Given the description of an element on the screen output the (x, y) to click on. 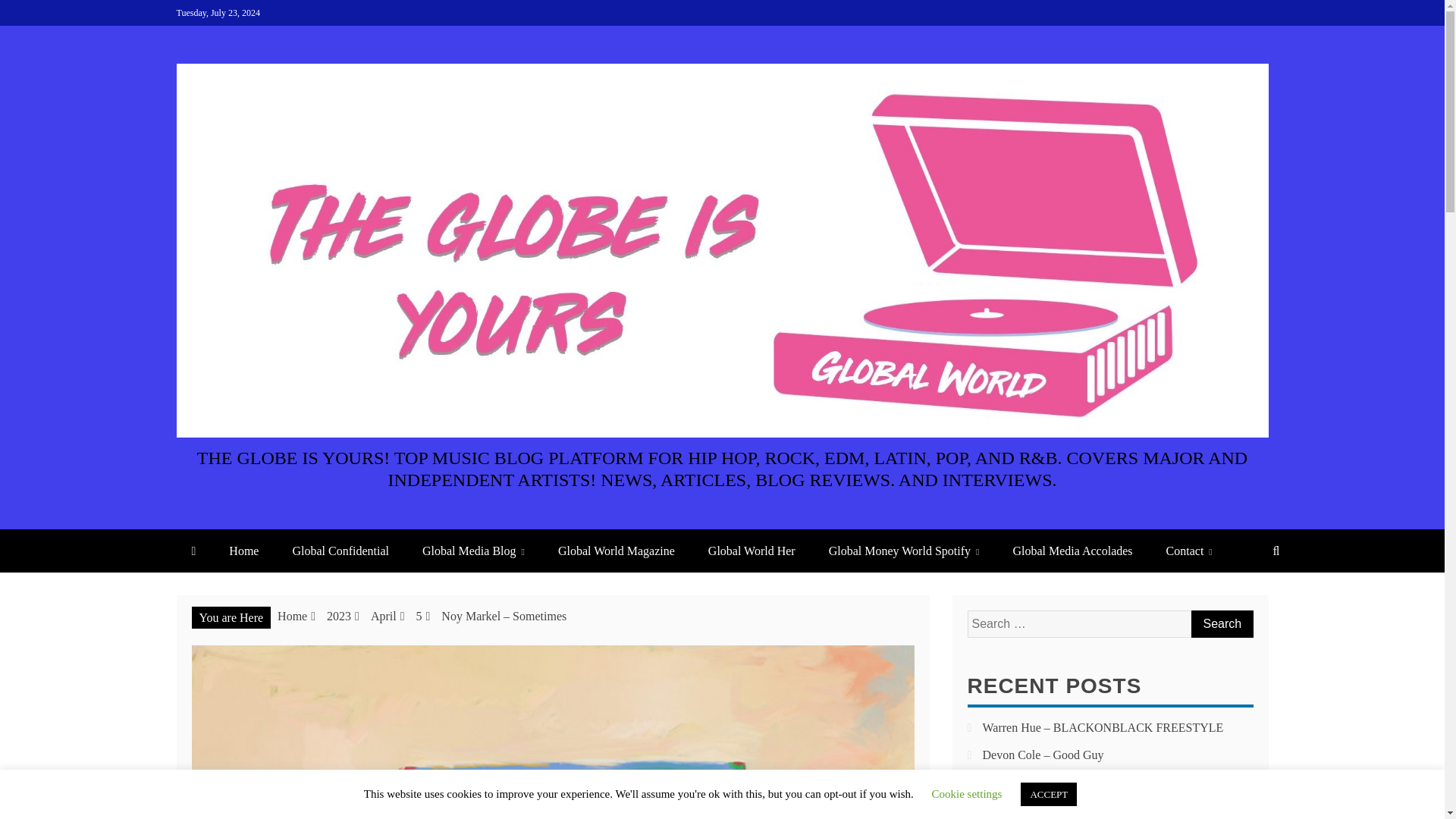
Search (1221, 624)
Global Confidential (340, 550)
Global Media Blog (473, 550)
Global World Magazine (616, 550)
Global World Her (751, 550)
Home (292, 615)
Global Media Accolades (1072, 550)
2023 (338, 615)
Global Money World Spotify (903, 550)
Home (243, 550)
April (383, 615)
Search (1221, 624)
Contact (1189, 550)
